Given the description of an element on the screen output the (x, y) to click on. 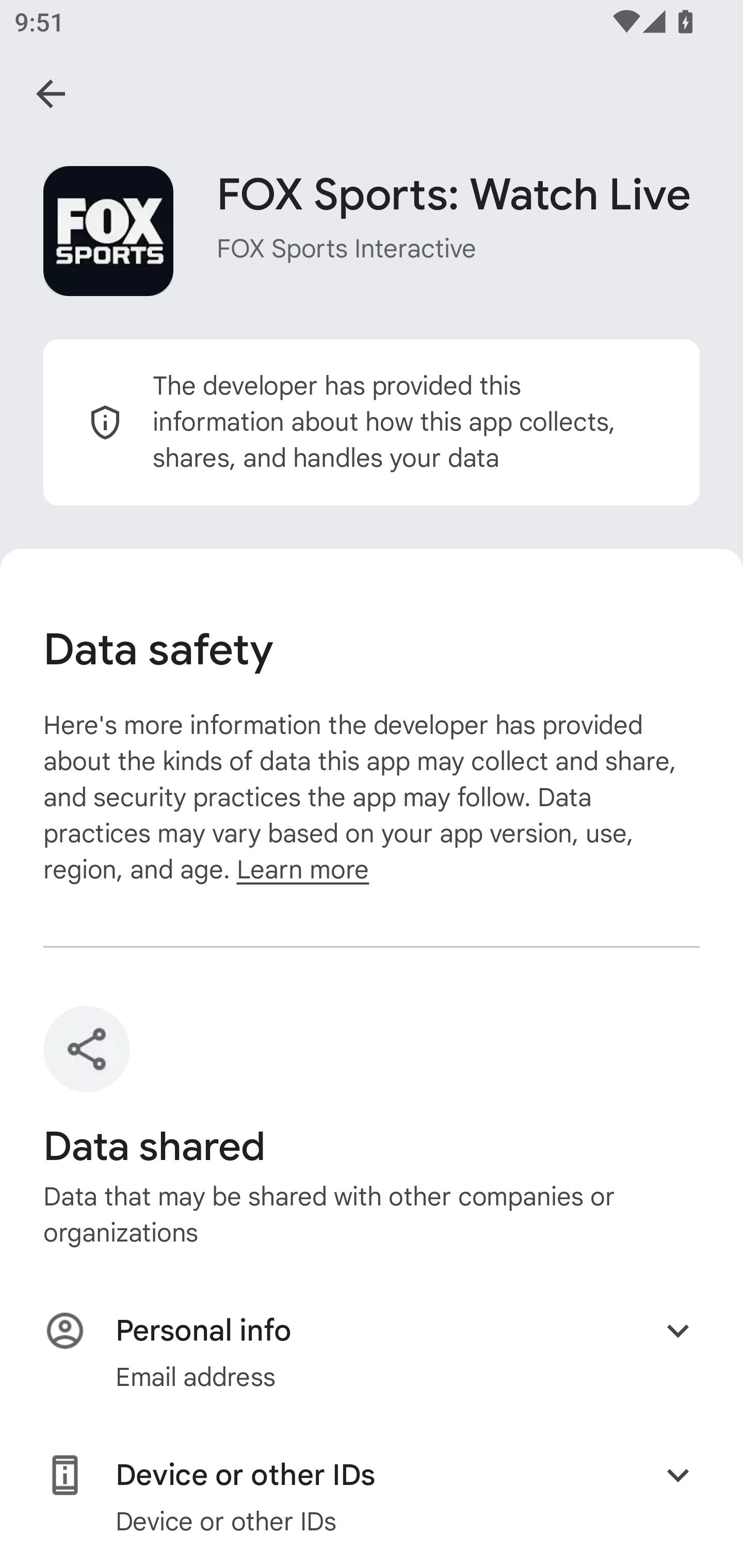
Navigate up (50, 93)
heading Personal info Email address Expand button (371, 1352)
